Given the description of an element on the screen output the (x, y) to click on. 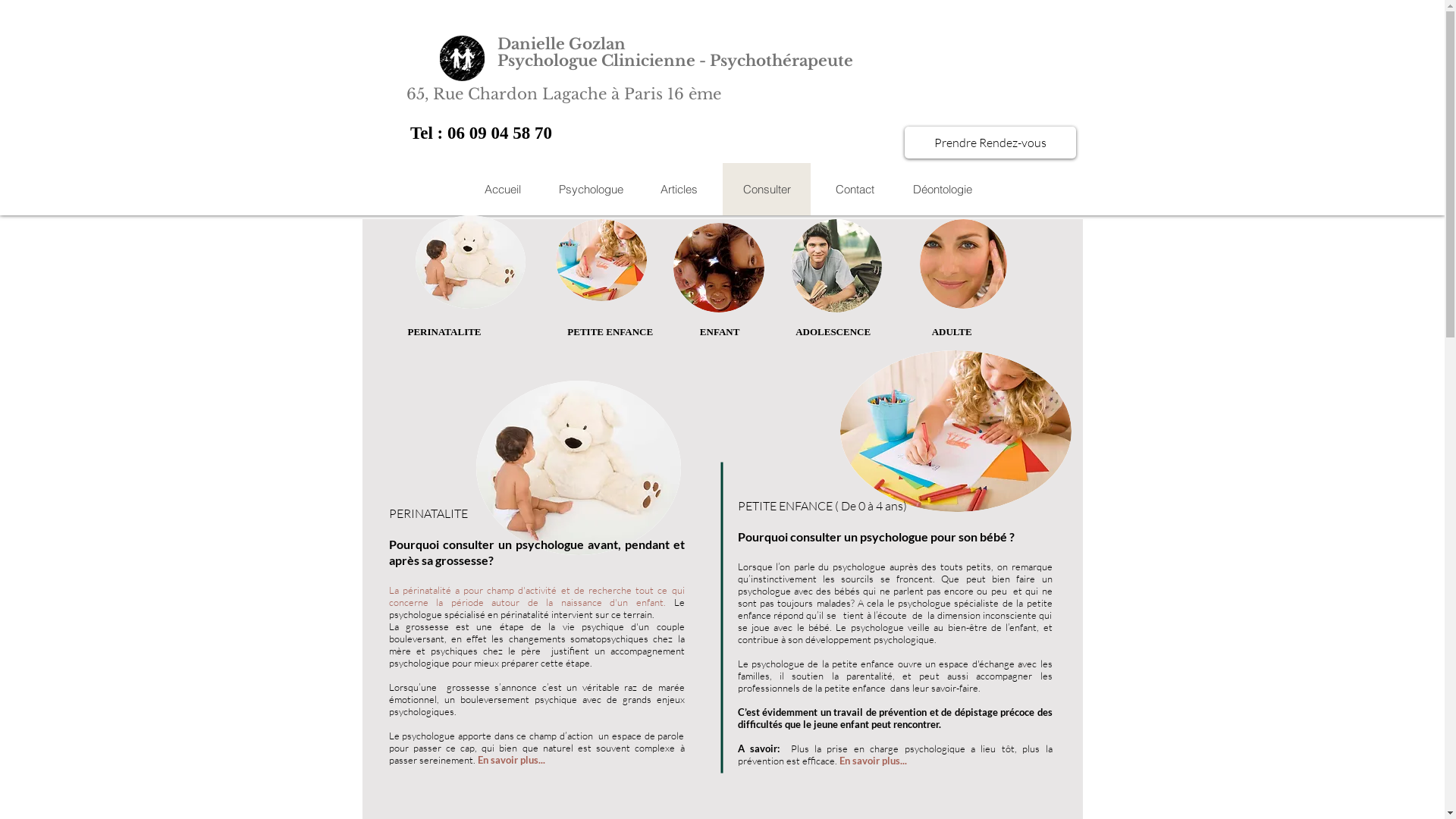
Accueil Element type: text (502, 189)
Psychologue d'adulte Paris Element type: hover (962, 263)
ADULTE Element type: text (951, 331)
PERINATALITE Element type: text (444, 331)
Prendre Rendez-vous Element type: text (989, 142)
ADOLESCENCE Element type: text (832, 331)
Psychologue Element type: text (589, 189)
Contact Element type: text (853, 189)
PETITE ENFANCE   Element type: text (612, 331)
Tel : 06 09 04 58 70 Element type: text (480, 133)
Articles Element type: text (677, 189)
En savoir plus... Element type: text (872, 760)
Psychologue enfant PARIS Element type: hover (718, 267)
   ENFANT   Element type: text (718, 331)
En savoir plus... Element type: text (511, 759)
Consulter Element type: text (765, 189)
Danielle Gozlan Element type: text (561, 43)
